Given the description of an element on the screen output the (x, y) to click on. 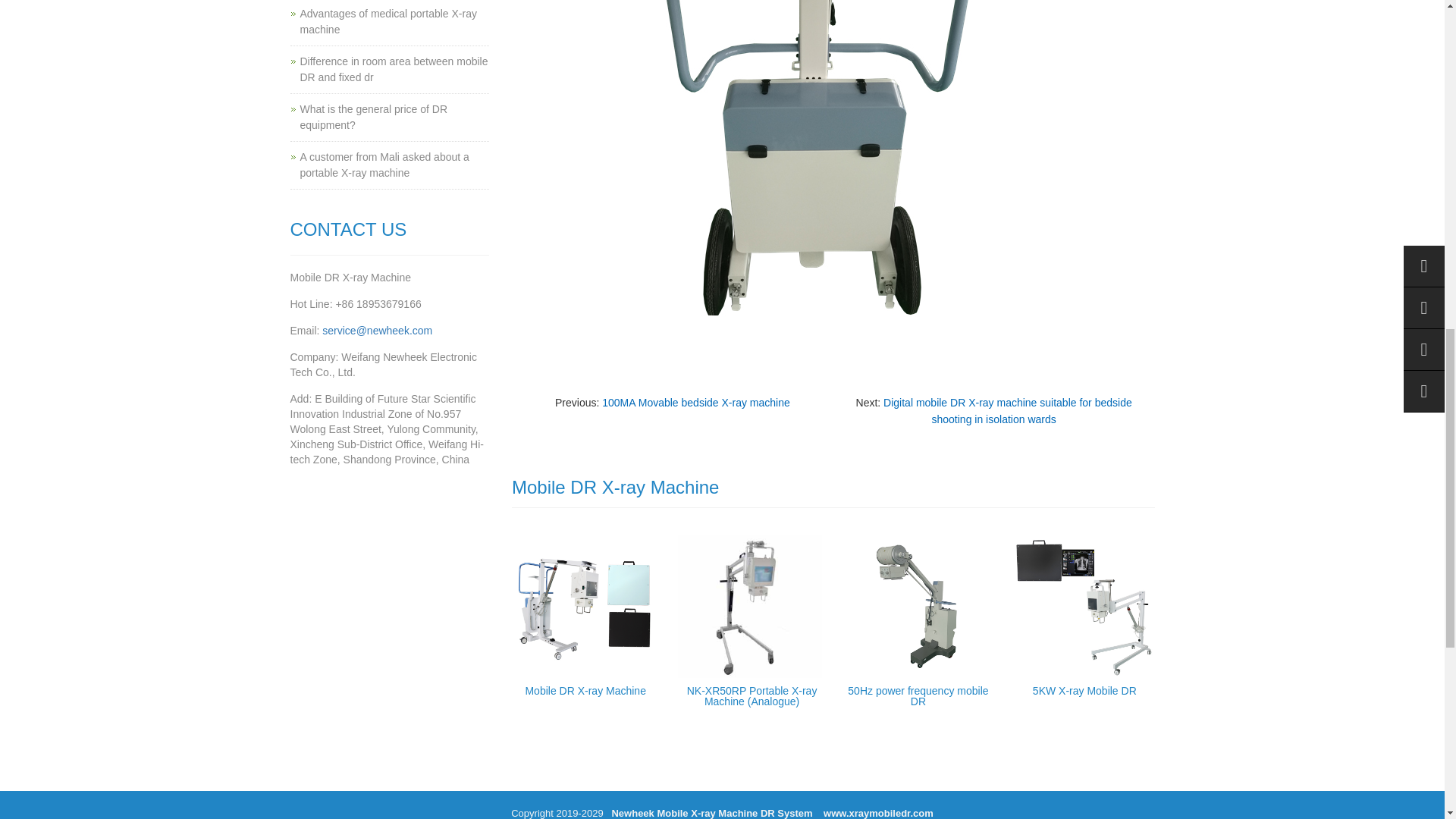
5KW X-ray Mobile DR (1084, 690)
100MA Movable bedside X-ray machine (695, 402)
Advantages of medical portable X-ray machine (388, 21)
Mobile DR X-ray Machine (585, 690)
Difference in room area between mobile DR and fixed dr (393, 69)
50Hz power frequency mobile DR (917, 695)
A customer from Mali asked about a portable X-ray machine (383, 164)
5KW X-ray Mobile DR (1084, 690)
Mobile DR X-ray Machine (585, 690)
What is the general price of DR equipment? (373, 117)
50Hz power frequency mobile DR (917, 695)
